Given the description of an element on the screen output the (x, y) to click on. 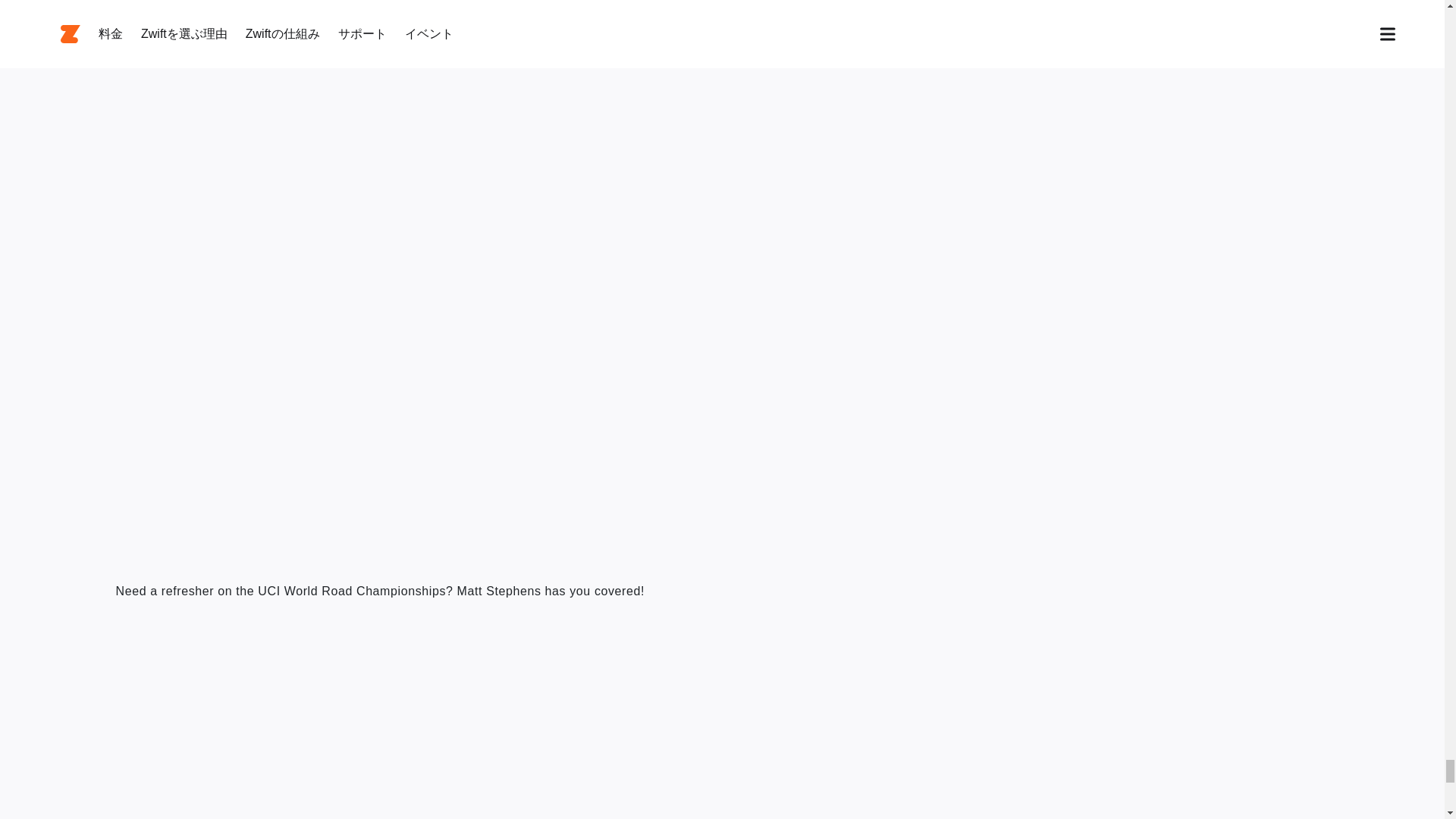
UCI Road World Championships Overview (305, 715)
